Given the description of an element on the screen output the (x, y) to click on. 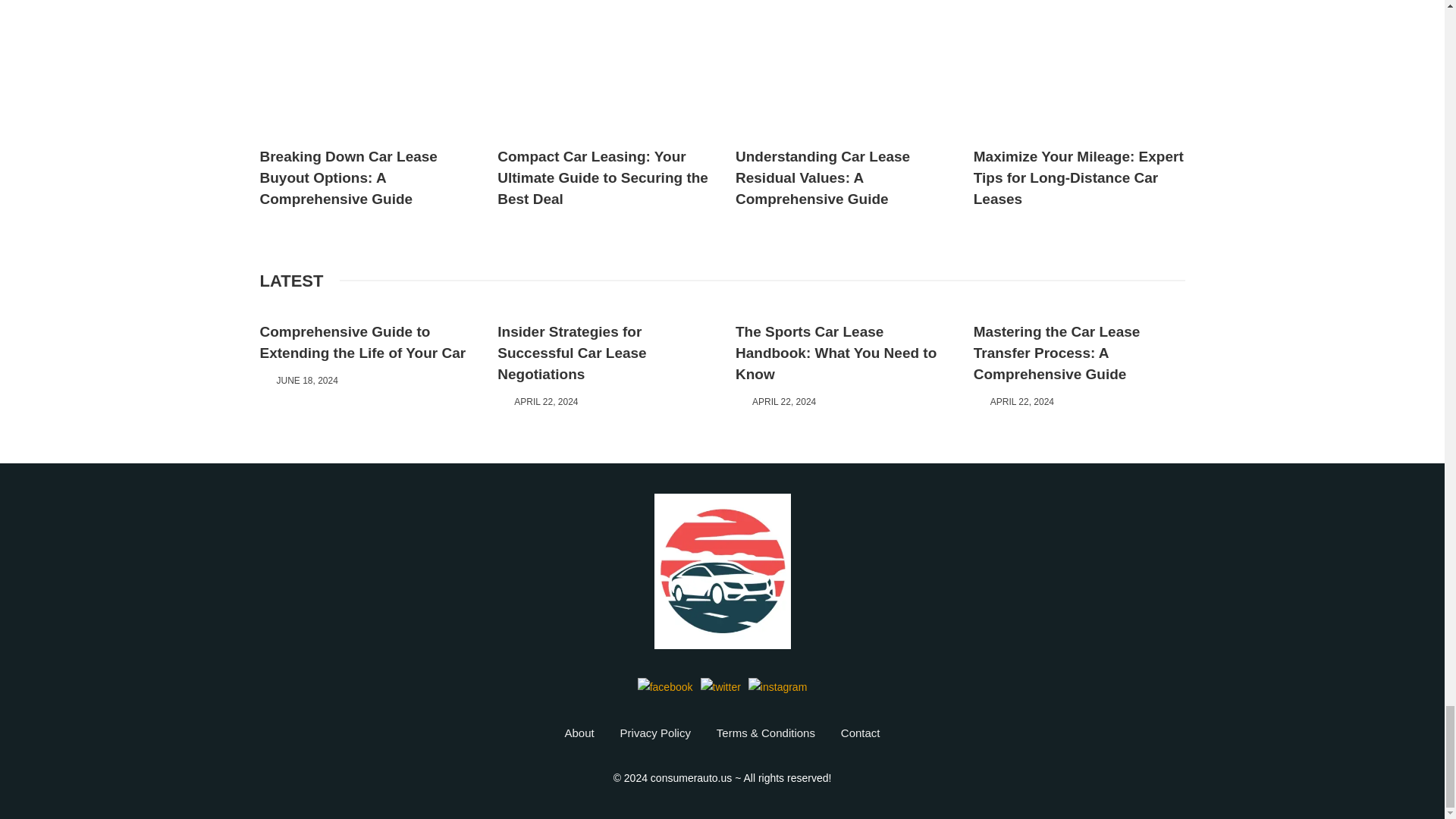
Comprehensive Guide to Extending the Life of Your Car (362, 344)
The Sports Car Lease Handbook: What You Need to Know (835, 2)
The Sports Car Lease Handbook: What You Need to Know (835, 354)
Insider Strategies for Successful Car Lease Negotiations (571, 354)
Insider Strategies for Successful Car Lease Negotiations (571, 2)
